Given the description of an element on the screen output the (x, y) to click on. 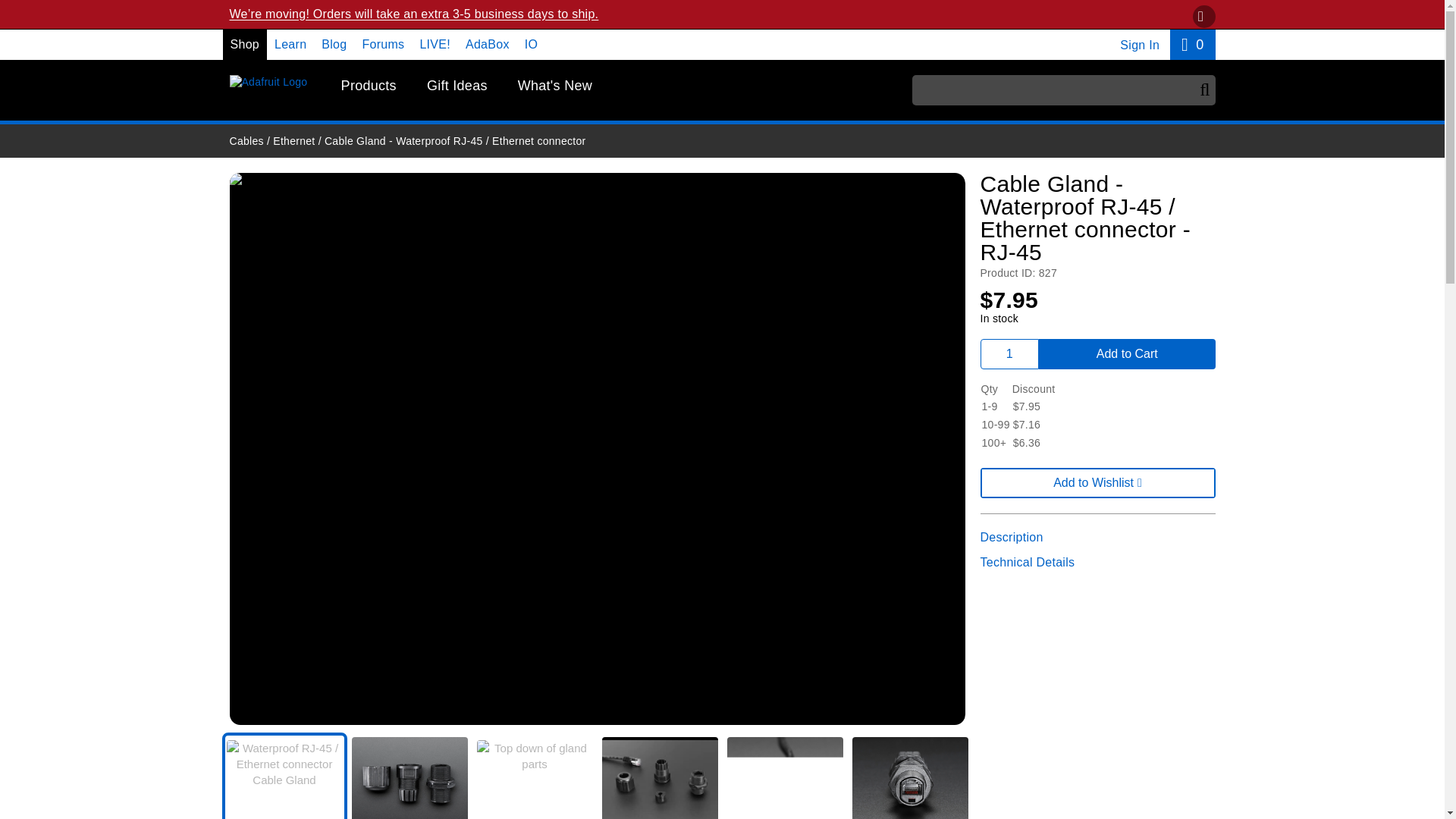
Sign In (1138, 44)
AdaBox (487, 43)
IO (530, 43)
Forums (382, 43)
1 (1009, 354)
Learn (290, 43)
Blog (1192, 44)
Shop (333, 43)
Products (245, 43)
Adafruit (368, 86)
LIVE! (267, 82)
